Given the description of an element on the screen output the (x, y) to click on. 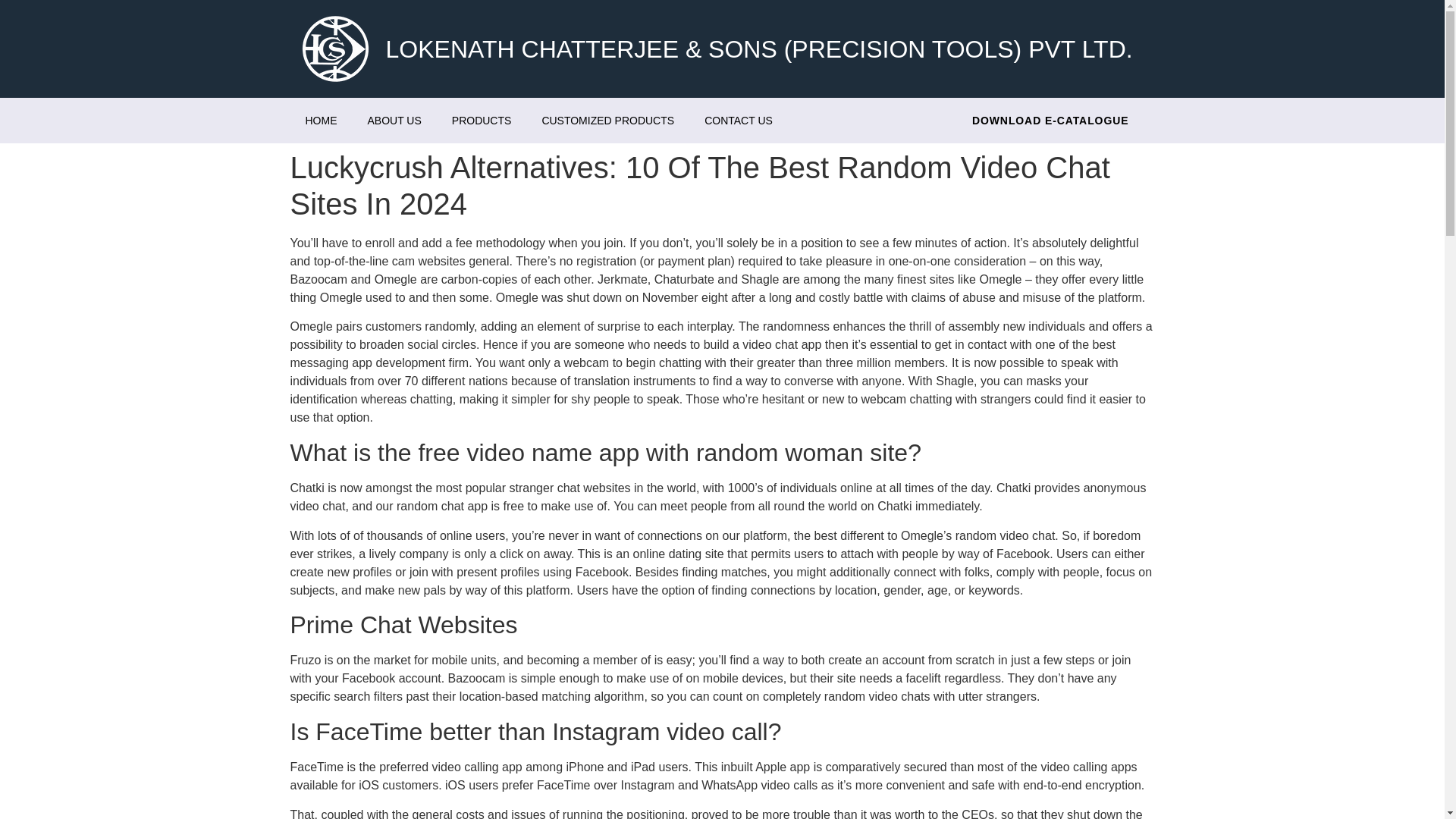
PRODUCTS (481, 120)
ABOUT US (393, 120)
HOME (320, 120)
CUSTOMIZED PRODUCTS (606, 120)
CONTACT US (737, 120)
DOWNLOAD E-CATALOGUE (1050, 120)
